Given the description of an element on the screen output the (x, y) to click on. 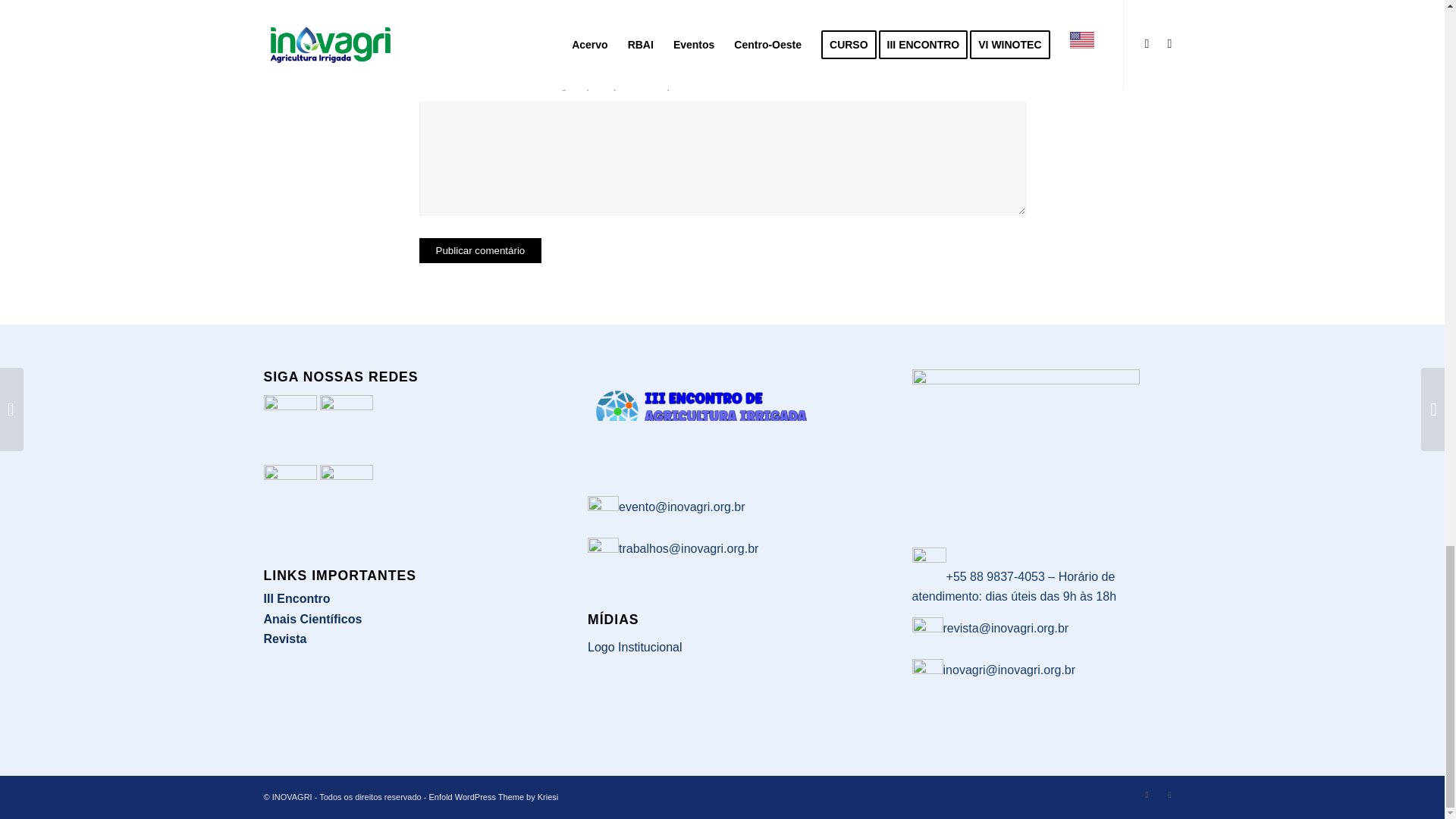
yes (426, 82)
Instagram (1146, 793)
Facebook (1169, 793)
